Given the description of an element on the screen output the (x, y) to click on. 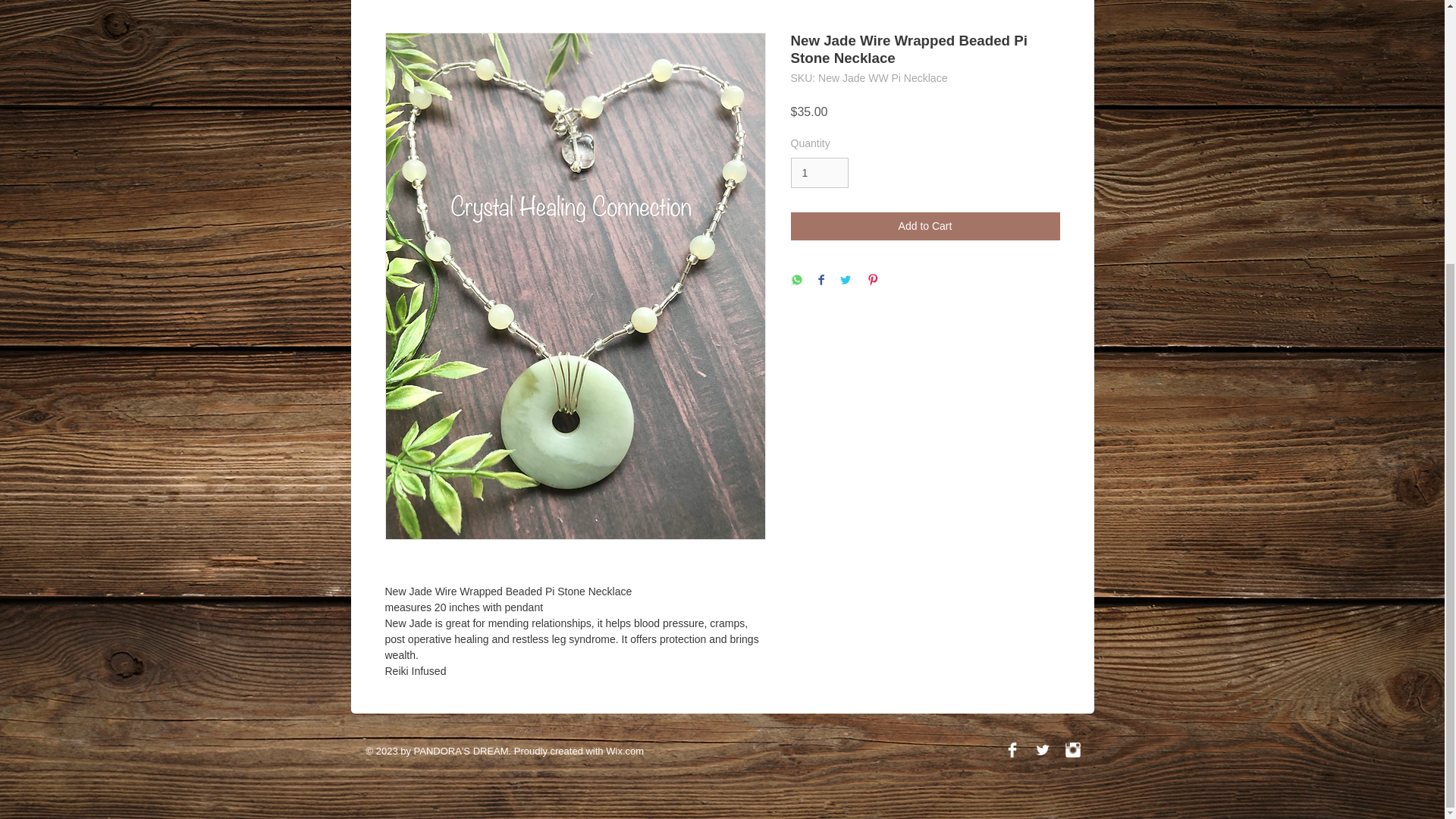
1 (818, 173)
Wix.com (624, 750)
Add to Cart (924, 226)
